Given the description of an element on the screen output the (x, y) to click on. 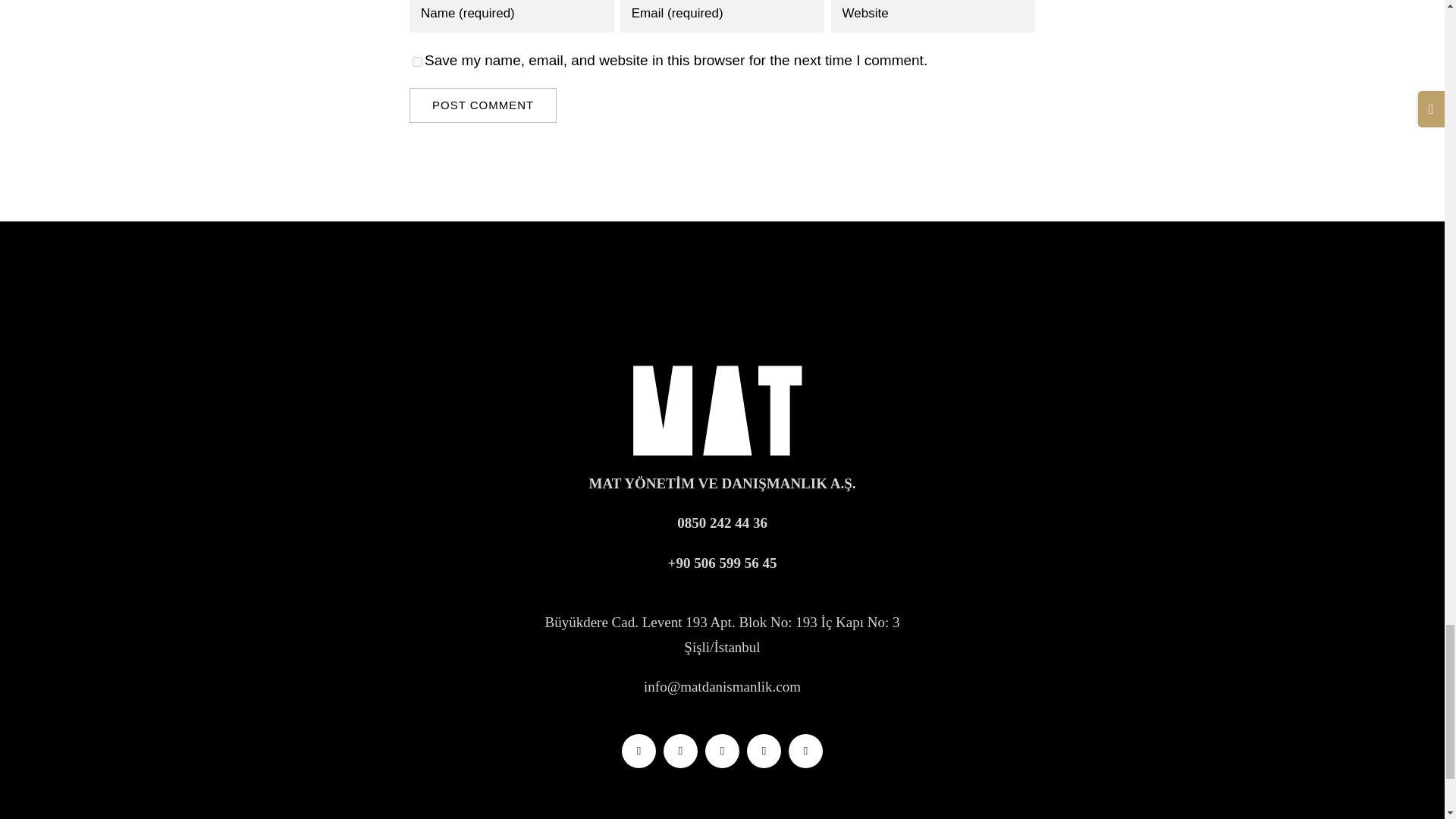
Post Comment (482, 104)
WhatsApp (763, 750)
Post Comment (482, 104)
LinkedIn (721, 750)
Twitter (638, 750)
Phone (805, 750)
yes (417, 61)
Instagram (680, 750)
